Given the description of an element on the screen output the (x, y) to click on. 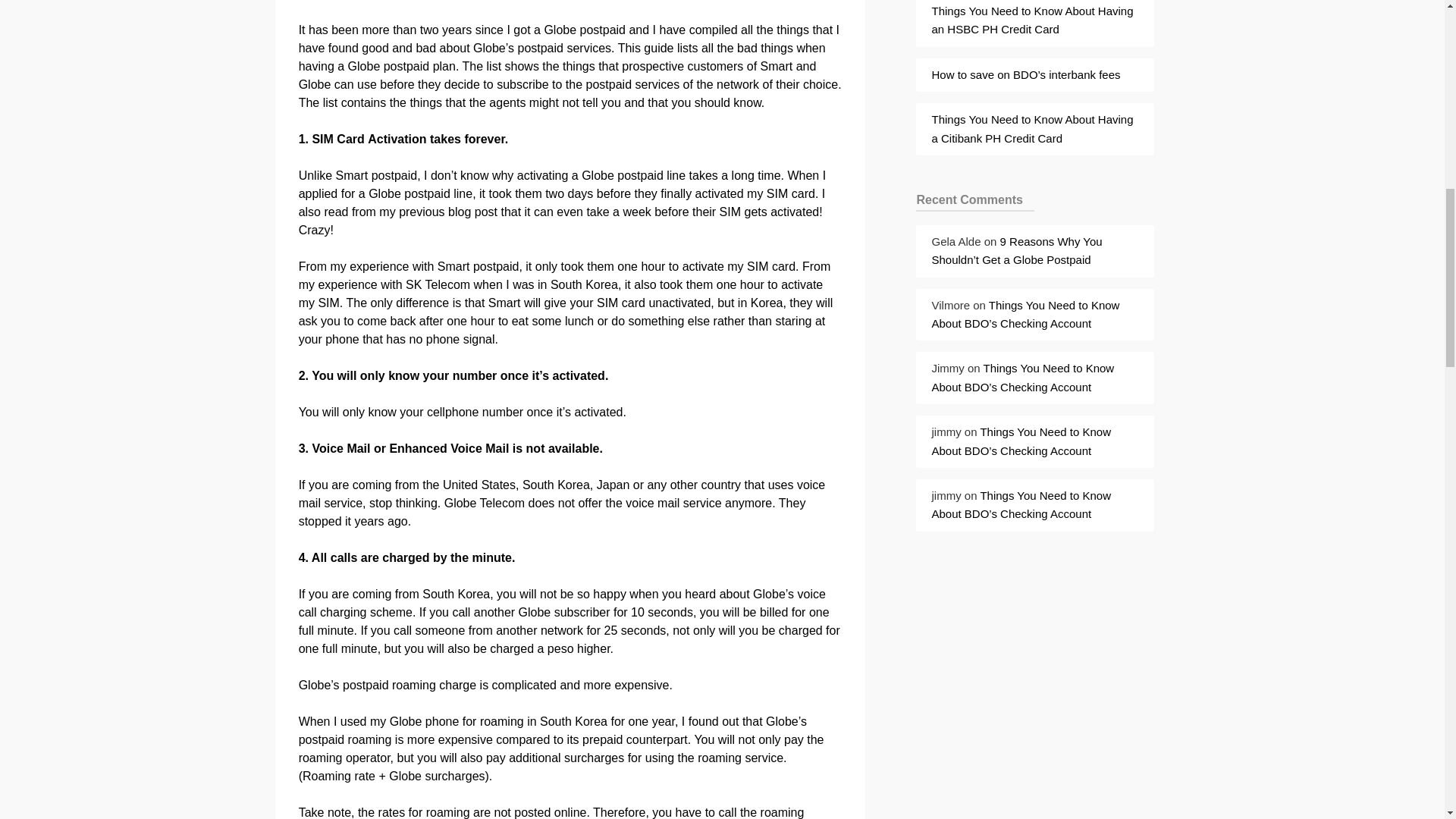
Things You Need to Know About Having an HSBC PH Credit Card (1031, 20)
